Given the description of an element on the screen output the (x, y) to click on. 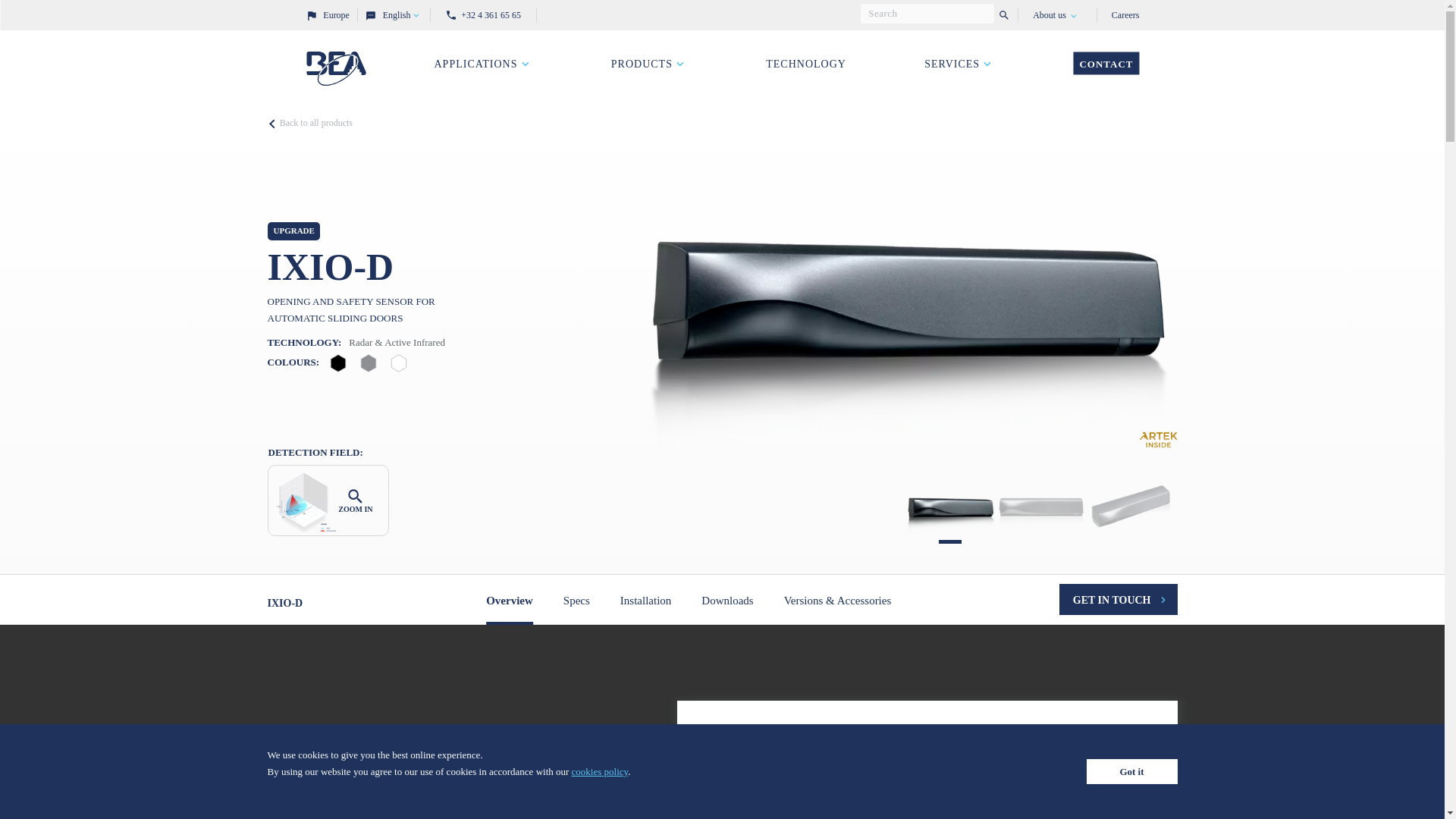
APPLICATIONS (482, 64)
